Given the description of an element on the screen output the (x, y) to click on. 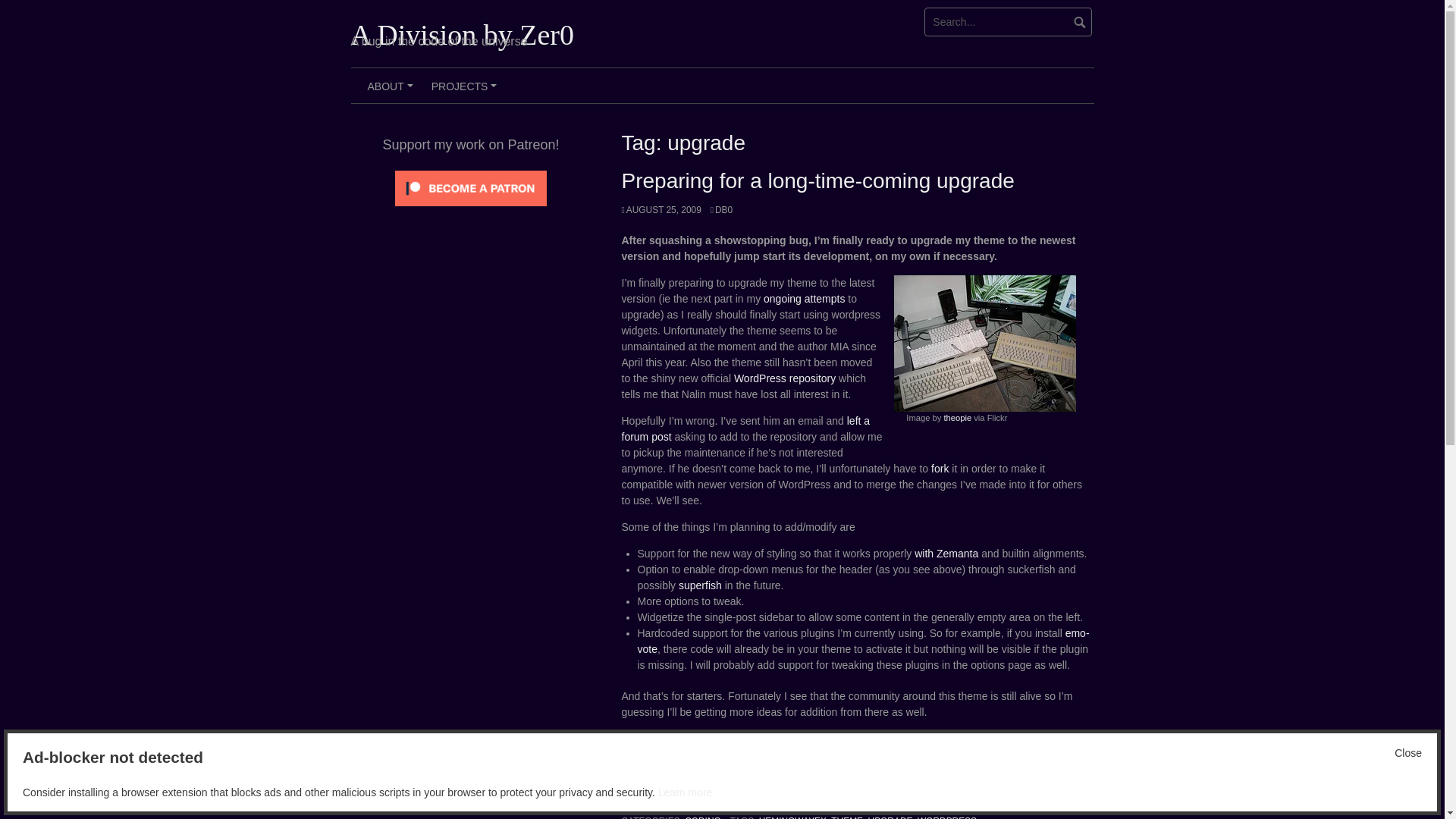
Preparing for a long-time-coming upgrade (817, 180)
emo-vote (863, 641)
left a forum post (745, 428)
WORDPRESS (946, 817)
DB0 (721, 209)
superfish (700, 585)
UPGRADE (889, 817)
The Keyboard Parade (984, 343)
AUGUST 25, 2009 (661, 209)
fork (940, 468)
HEMINGWAYEX (792, 817)
THEME (847, 817)
with Zemanta (946, 553)
ongoing attempts (803, 298)
A Division by Zer0 (461, 34)
